Given the description of an element on the screen output the (x, y) to click on. 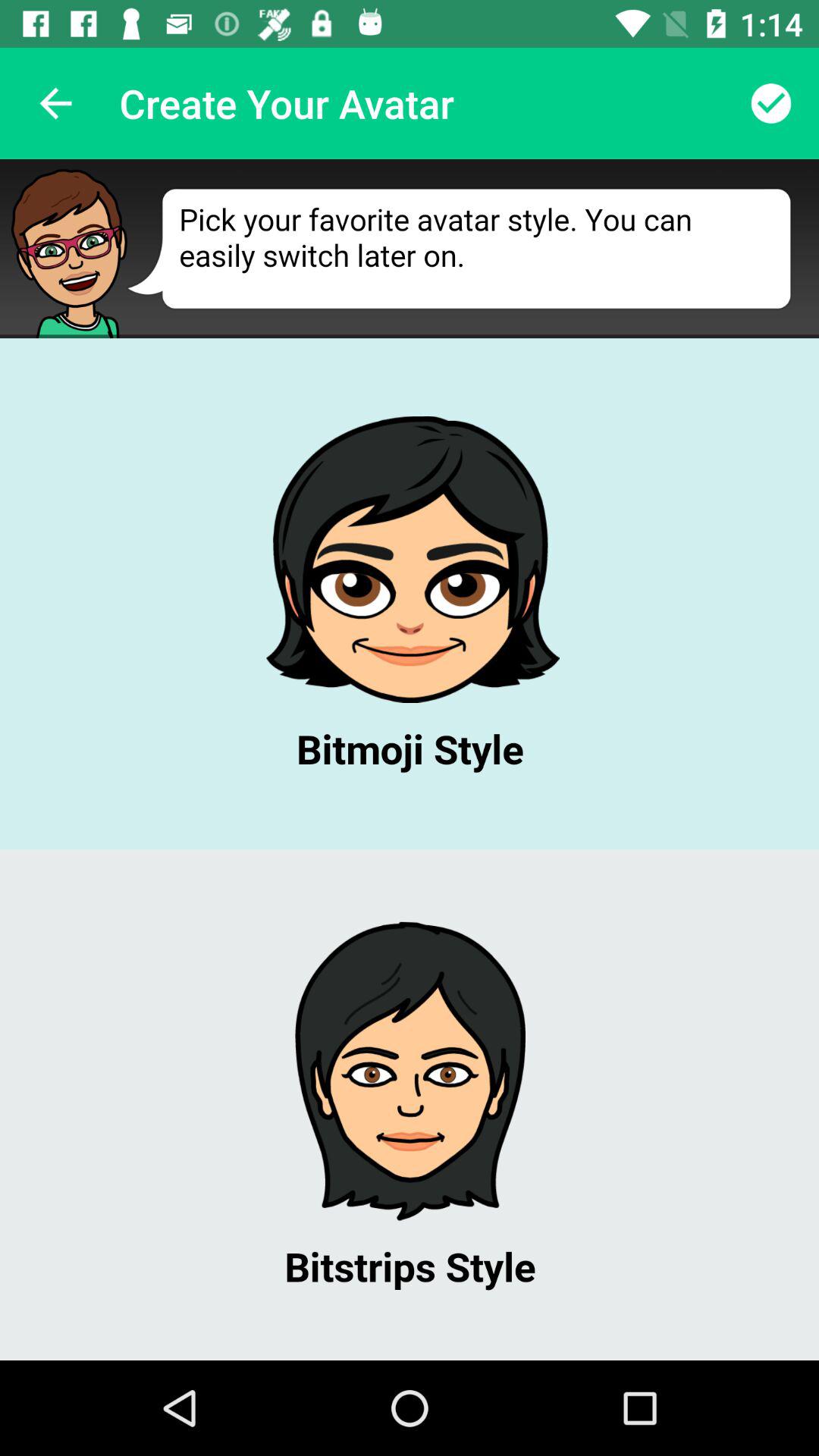
page is open (409, 759)
